Given the description of an element on the screen output the (x, y) to click on. 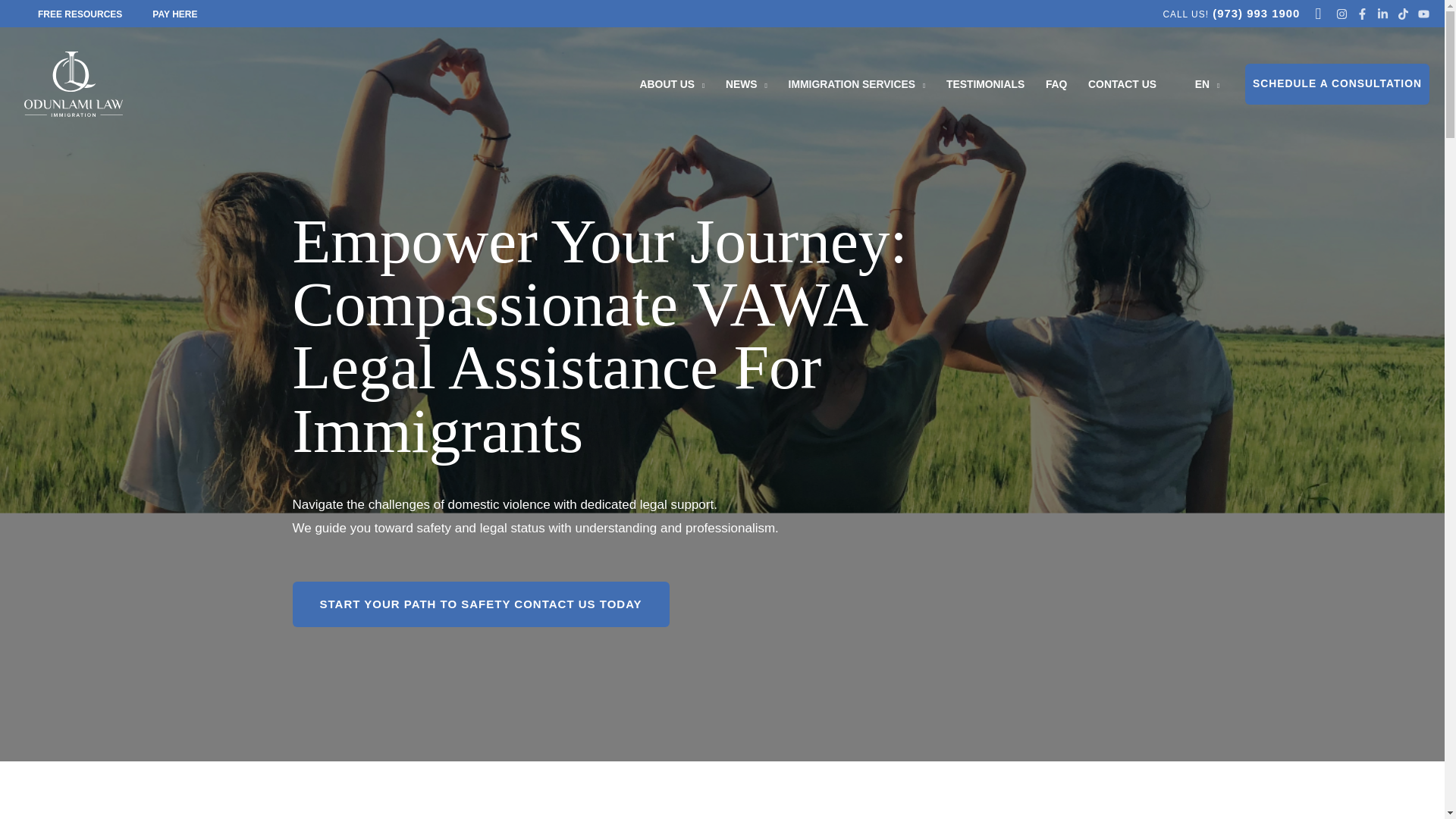
ABOUT US (671, 83)
EN (1198, 83)
PAY HERE (174, 14)
FREE RESOURCES (79, 14)
IMMIGRATION SERVICES (856, 83)
NEWS (745, 83)
